Given the description of an element on the screen output the (x, y) to click on. 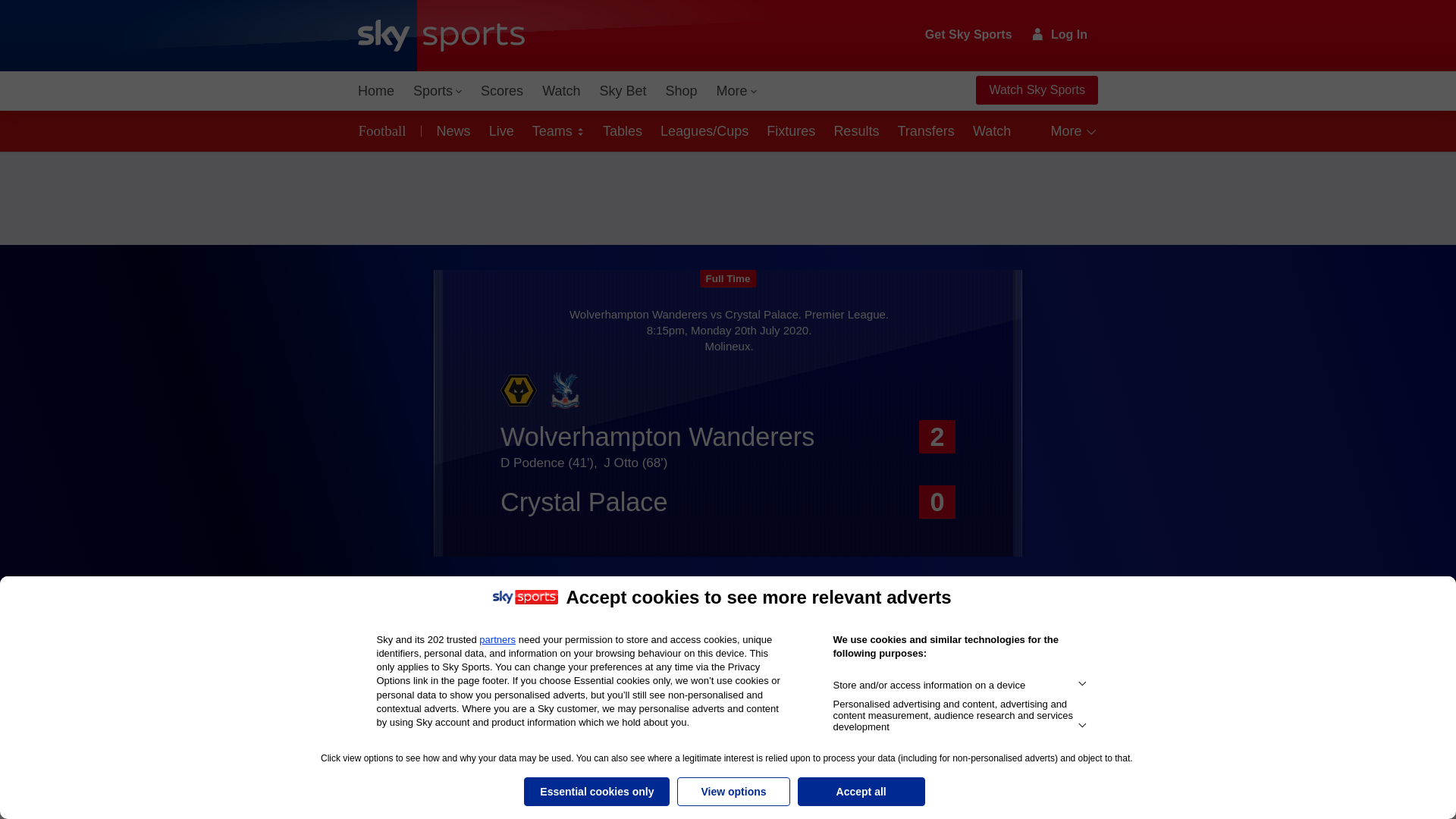
Shop (681, 91)
Sports (437, 91)
Home (375, 91)
Log In (1060, 33)
Watch Sky Sports (1036, 90)
Football (385, 130)
News (451, 130)
Get Sky Sports (968, 34)
More (736, 91)
Scores (502, 91)
